Given the description of an element on the screen output the (x, y) to click on. 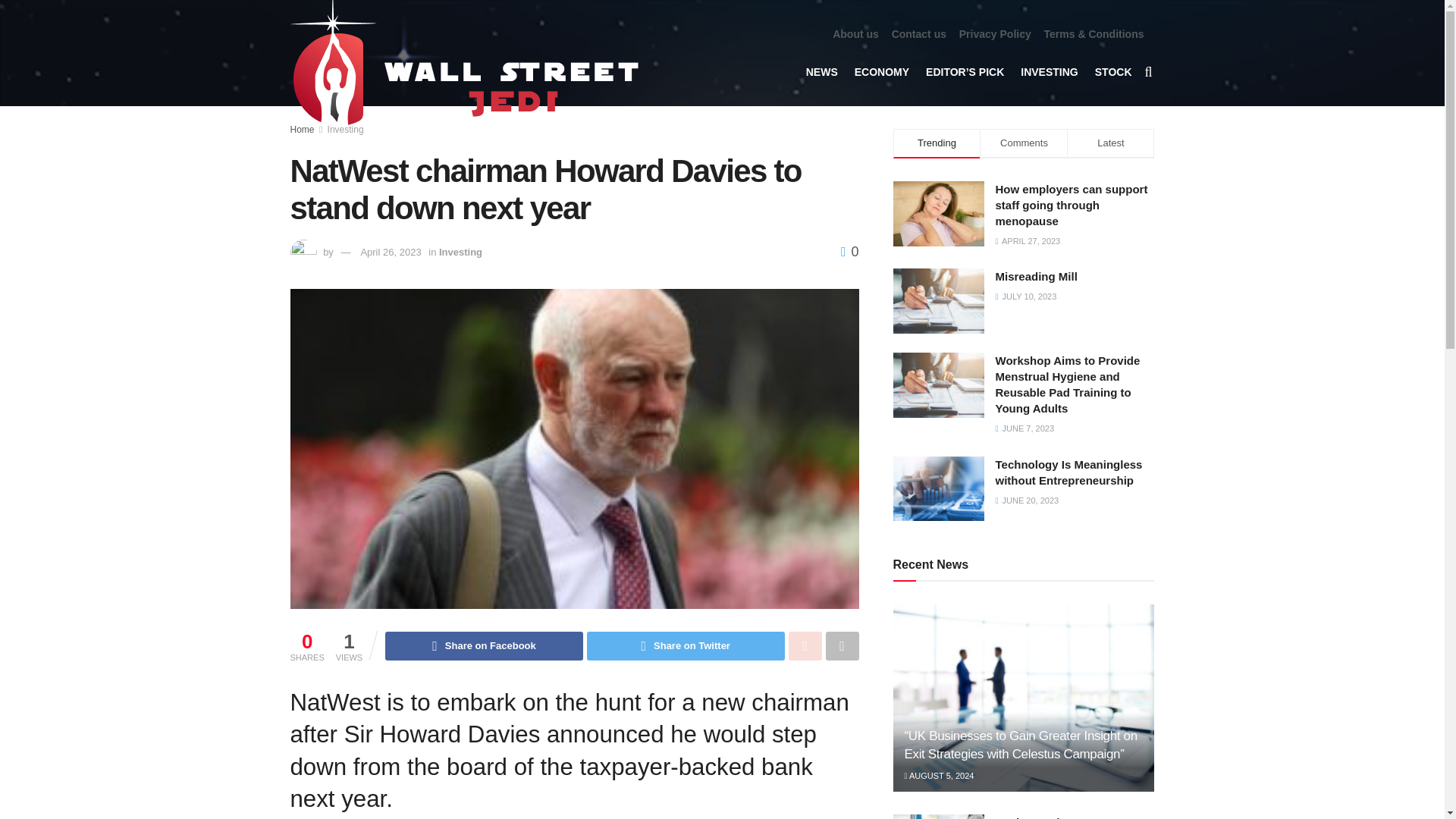
April 26, 2023 (389, 251)
INVESTING (1048, 71)
Share on Facebook (484, 645)
ECONOMY (881, 71)
Share on Twitter (685, 645)
STOCK (1113, 71)
Investing (460, 251)
Investing (345, 129)
Contact us (918, 34)
About us (855, 34)
